Given the description of an element on the screen output the (x, y) to click on. 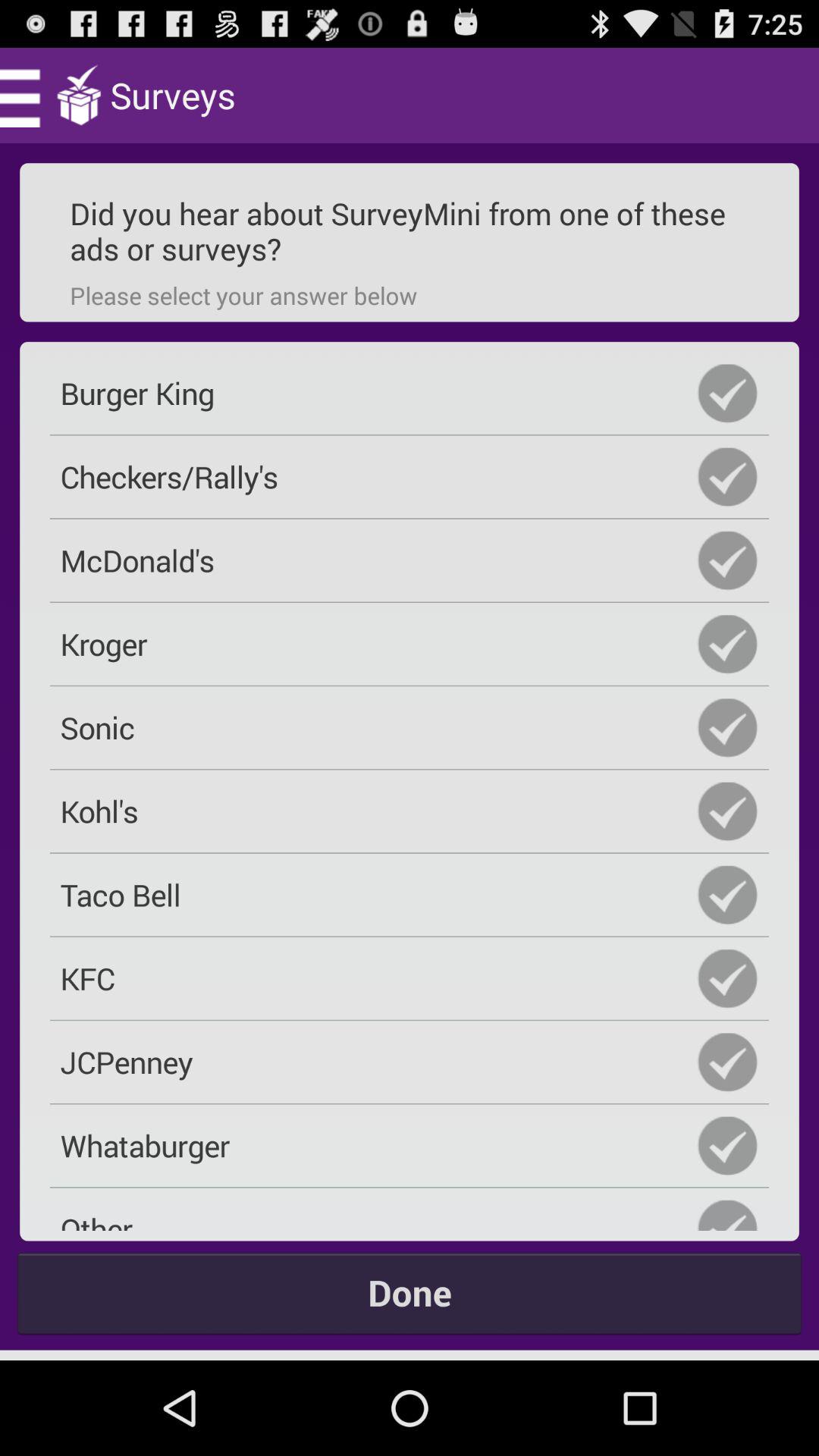
launch whataburger (409, 1145)
